Given the description of an element on the screen output the (x, y) to click on. 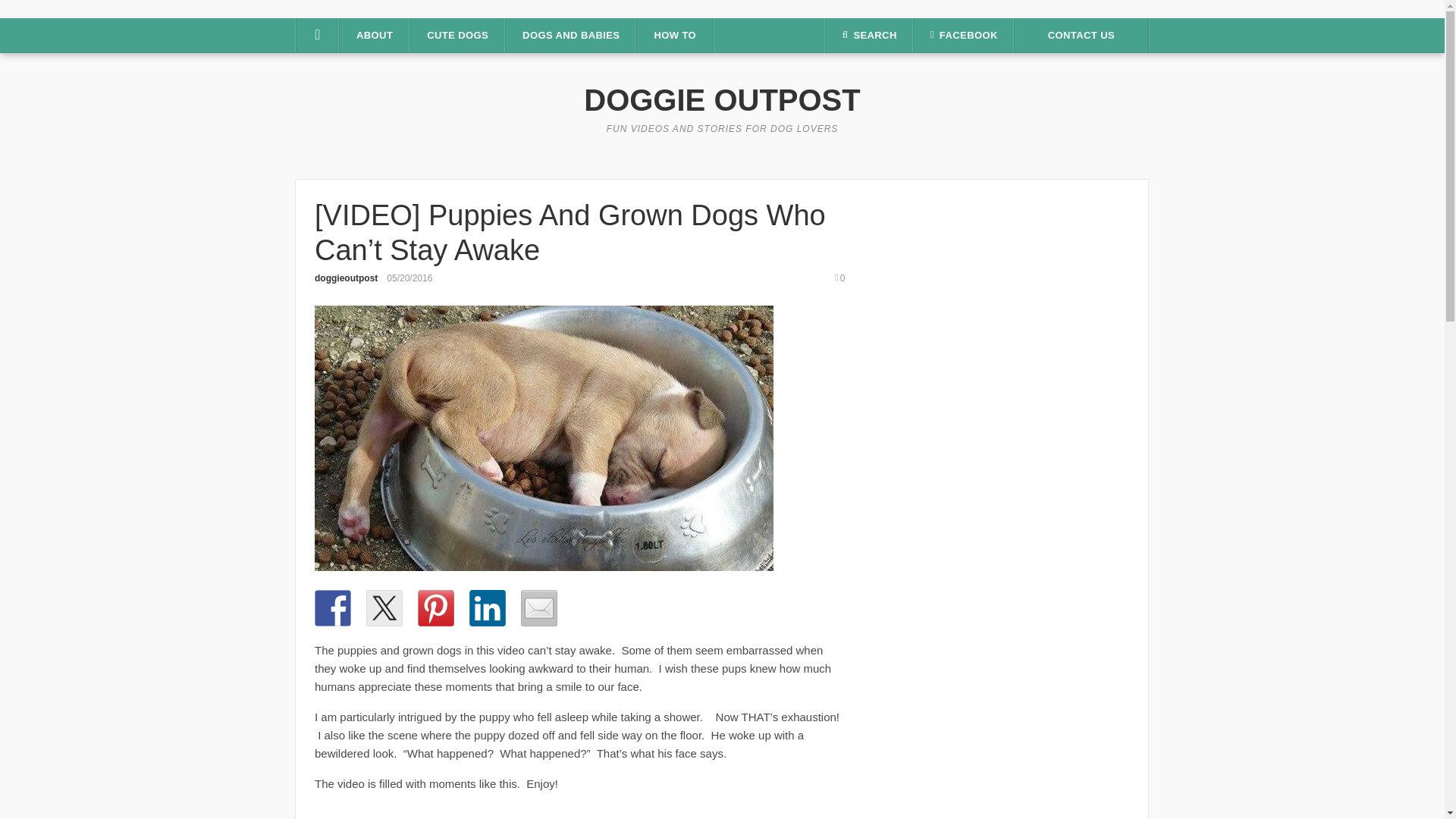
ABOUT (374, 35)
doggieoutpost (345, 277)
DOGGIE OUTPOST (721, 100)
DOGS AND BABIES (570, 35)
SEARCH (869, 34)
Share on Facebook (332, 607)
CONTACT US (1080, 35)
HOW TO (675, 35)
CUTE DOGS (457, 35)
FACEBOOK (963, 34)
Share on Linkedin (486, 607)
Share on Twitter (384, 607)
Share by email (539, 607)
Pin it with Pinterest (435, 607)
